Given the description of an element on the screen output the (x, y) to click on. 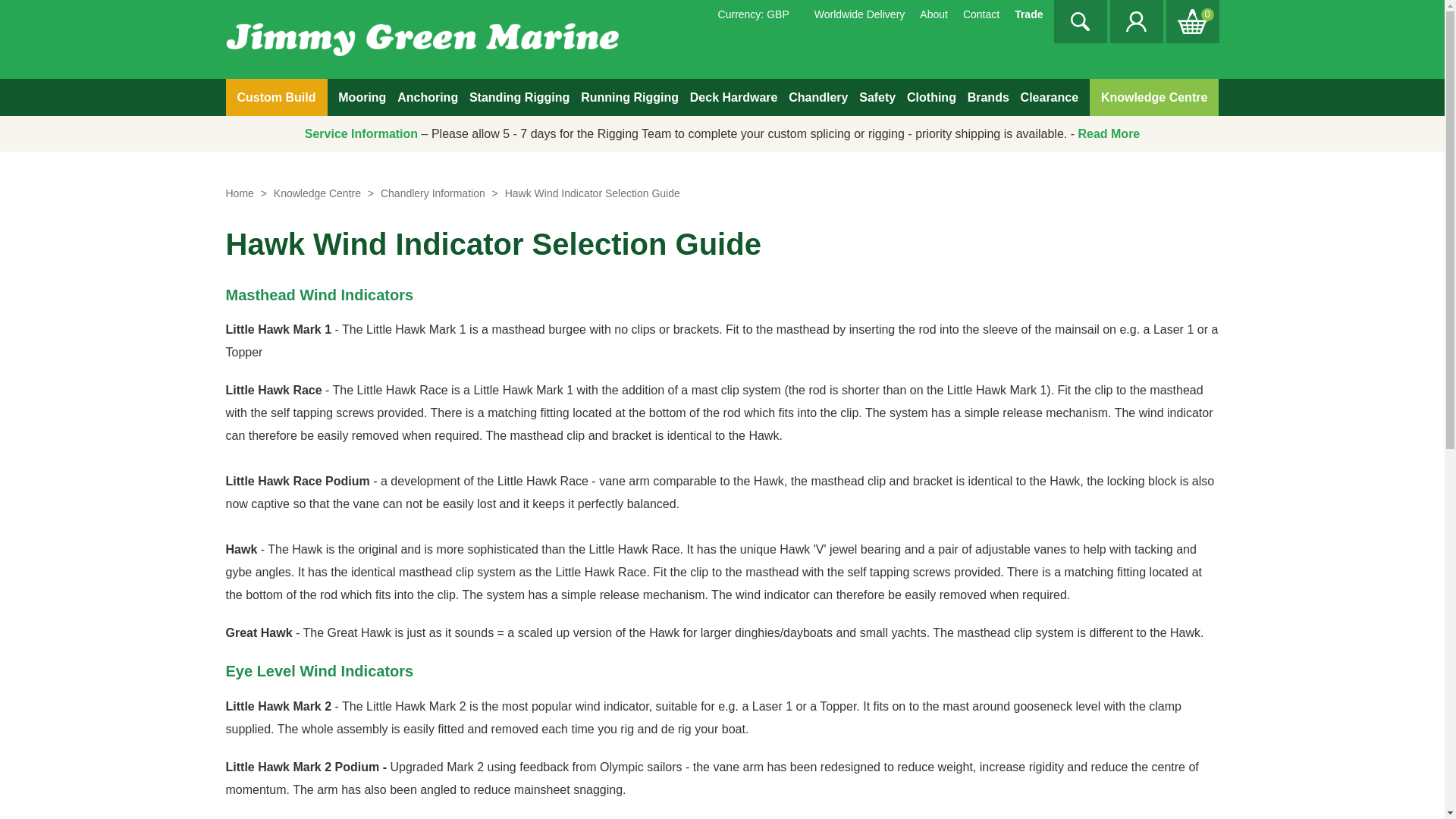
Mooring (361, 97)
0 (1191, 21)
Custom Build (275, 97)
About (933, 14)
Jimmy Green Marine (421, 38)
Trade (1028, 14)
Worldwide Delivery (859, 14)
Contact (980, 14)
Log in to your customer account (1134, 21)
